Given the description of an element on the screen output the (x, y) to click on. 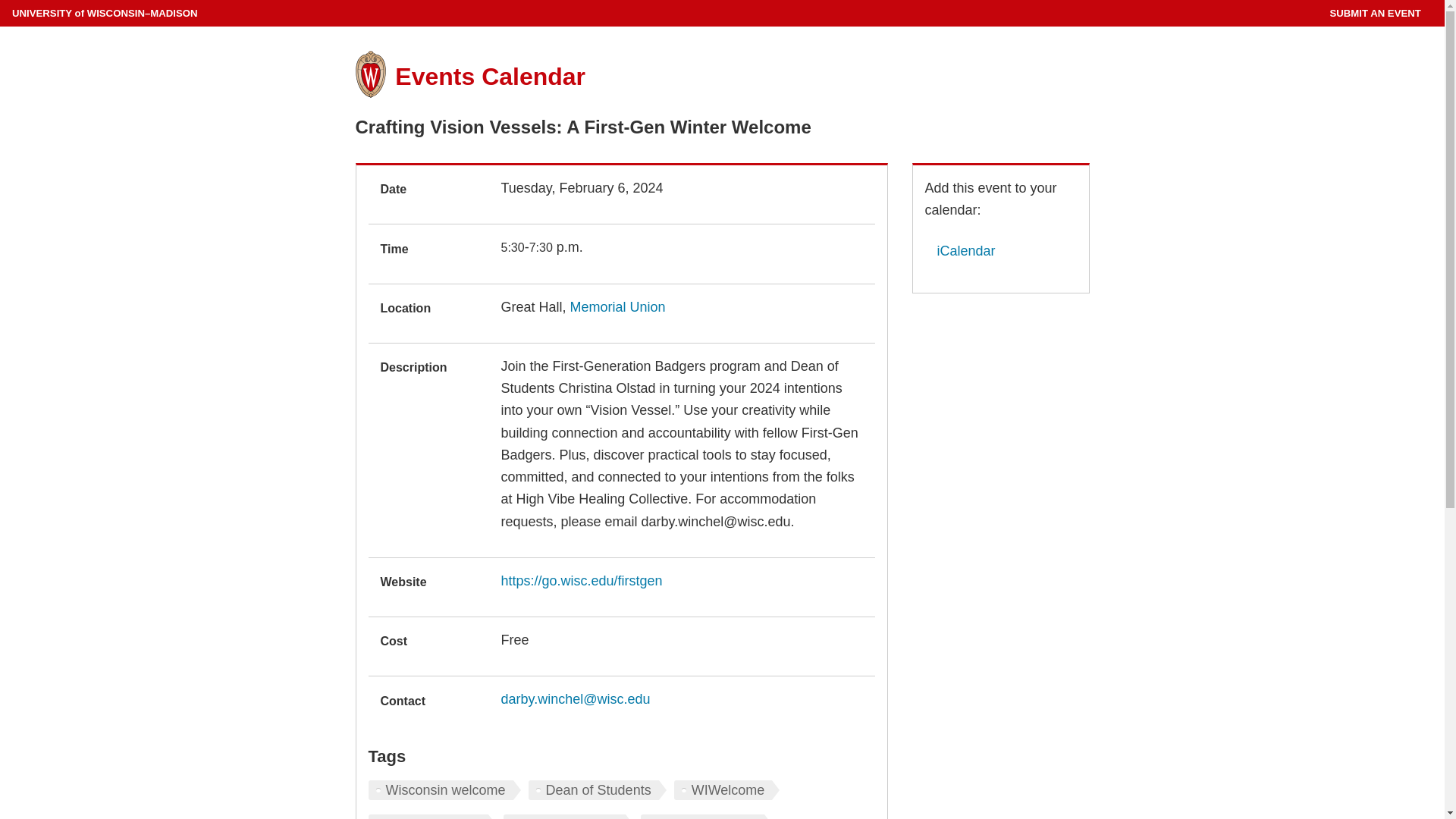
Winter welcome (568, 816)
WIWelcome (727, 790)
Memorial Union (617, 306)
Wisconsin welcome (444, 790)
First generation (432, 816)
Events Calendar (489, 76)
Dean of Students (597, 790)
Wiwelcomeback (705, 816)
Skip to main content (3, 3)
iCalendar (959, 250)
